Given the description of an element on the screen output the (x, y) to click on. 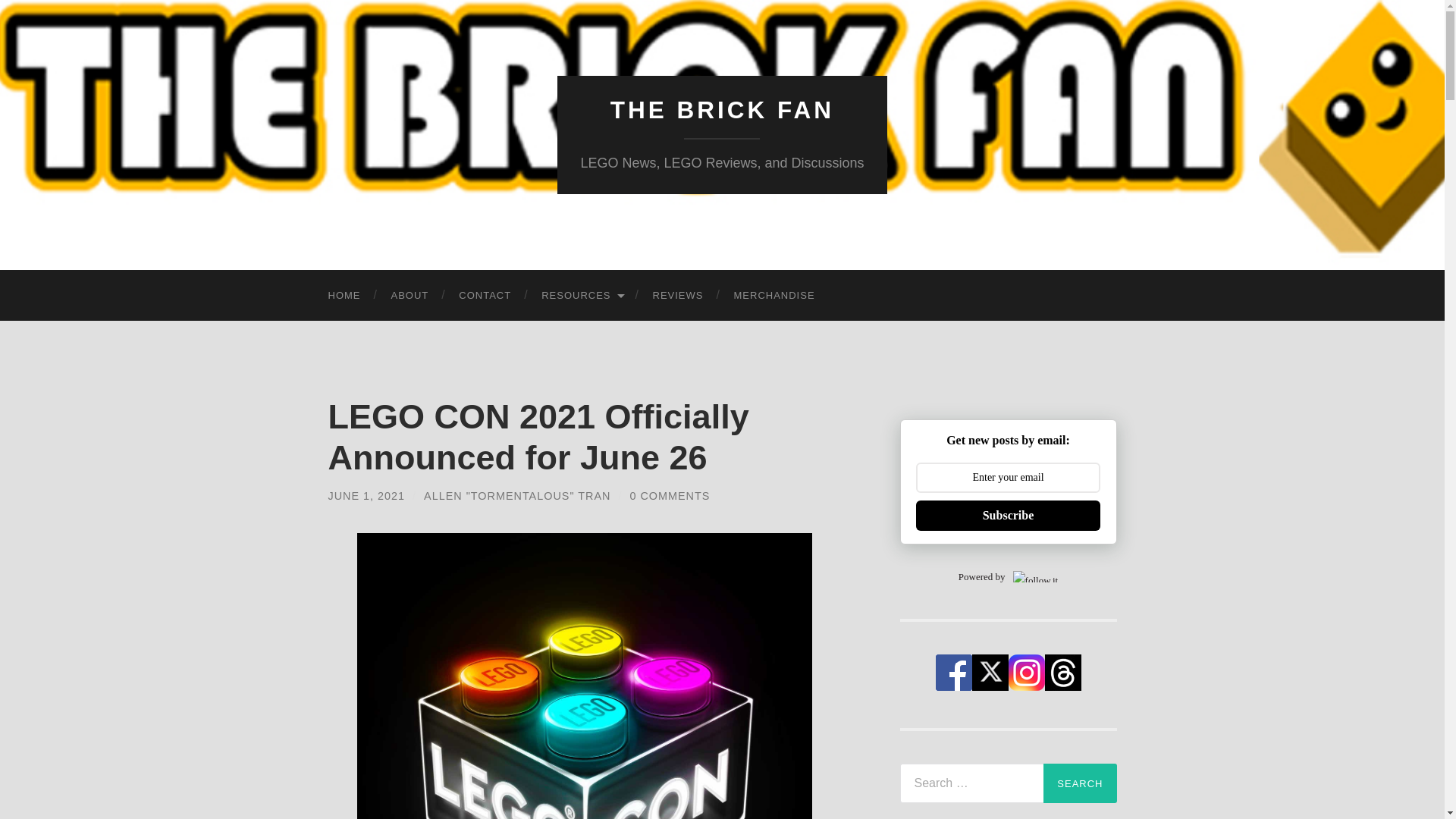
ABOUT (409, 295)
HOME (344, 295)
Posts by Allen "Tormentalous" Tran (516, 495)
JUNE 1, 2021 (365, 495)
CONTACT (484, 295)
THE BRICK FAN (722, 109)
Search (1079, 783)
0 COMMENTS (669, 495)
MERCHANDISE (774, 295)
ALLEN "TORMENTALOUS" TRAN (516, 495)
Search (1079, 783)
RESOURCES (581, 295)
REVIEWS (678, 295)
